Given the description of an element on the screen output the (x, y) to click on. 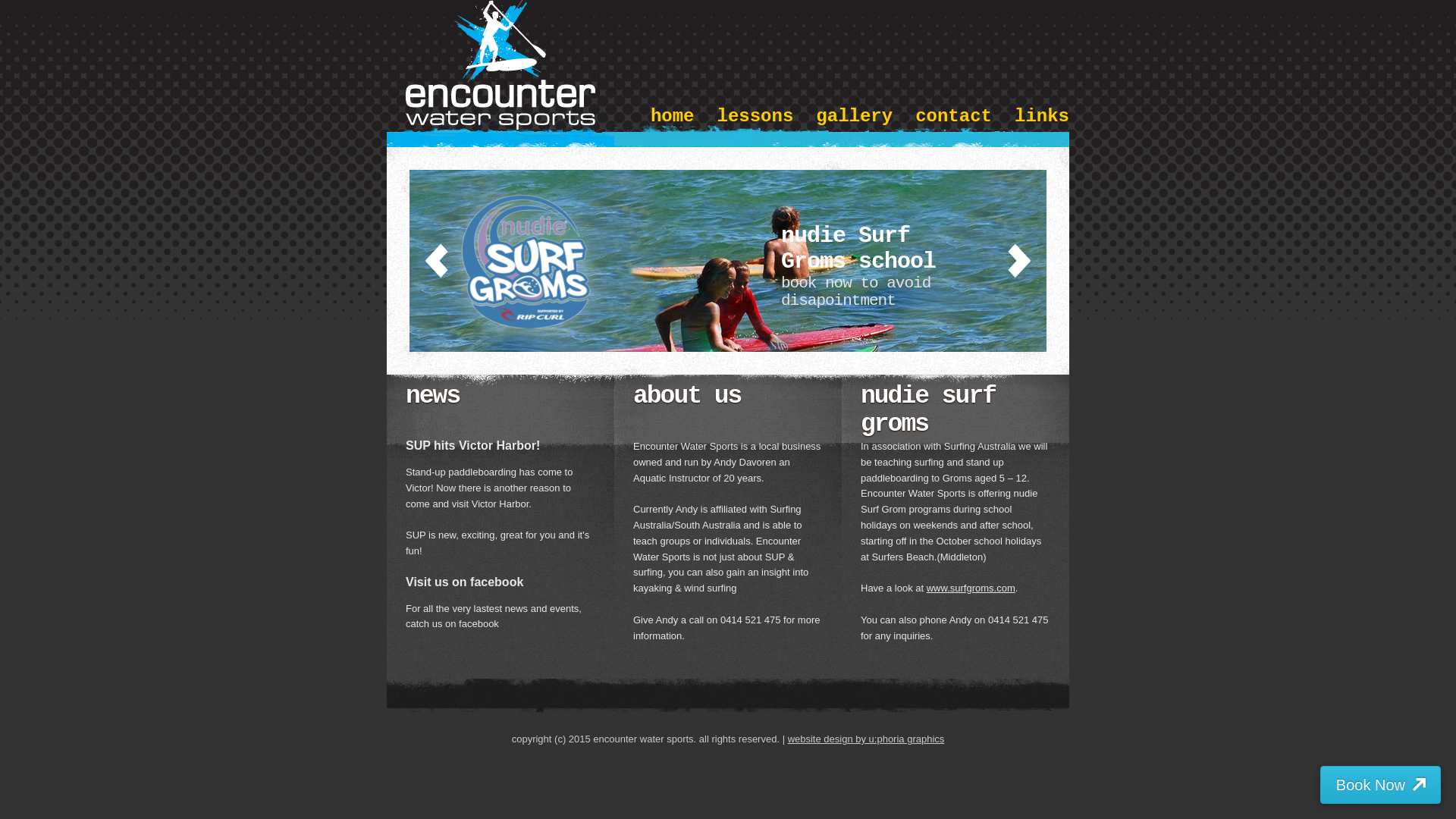
home Element type: text (672, 116)
links Element type: text (1041, 116)
contact Element type: text (953, 116)
Book Now Element type: text (1380, 784)
gallery Element type: text (853, 116)
www.surfgroms.com Element type: text (970, 587)
website design by u:phoria graphics Element type: text (865, 738)
lessons Element type: text (755, 116)
